Given the description of an element on the screen output the (x, y) to click on. 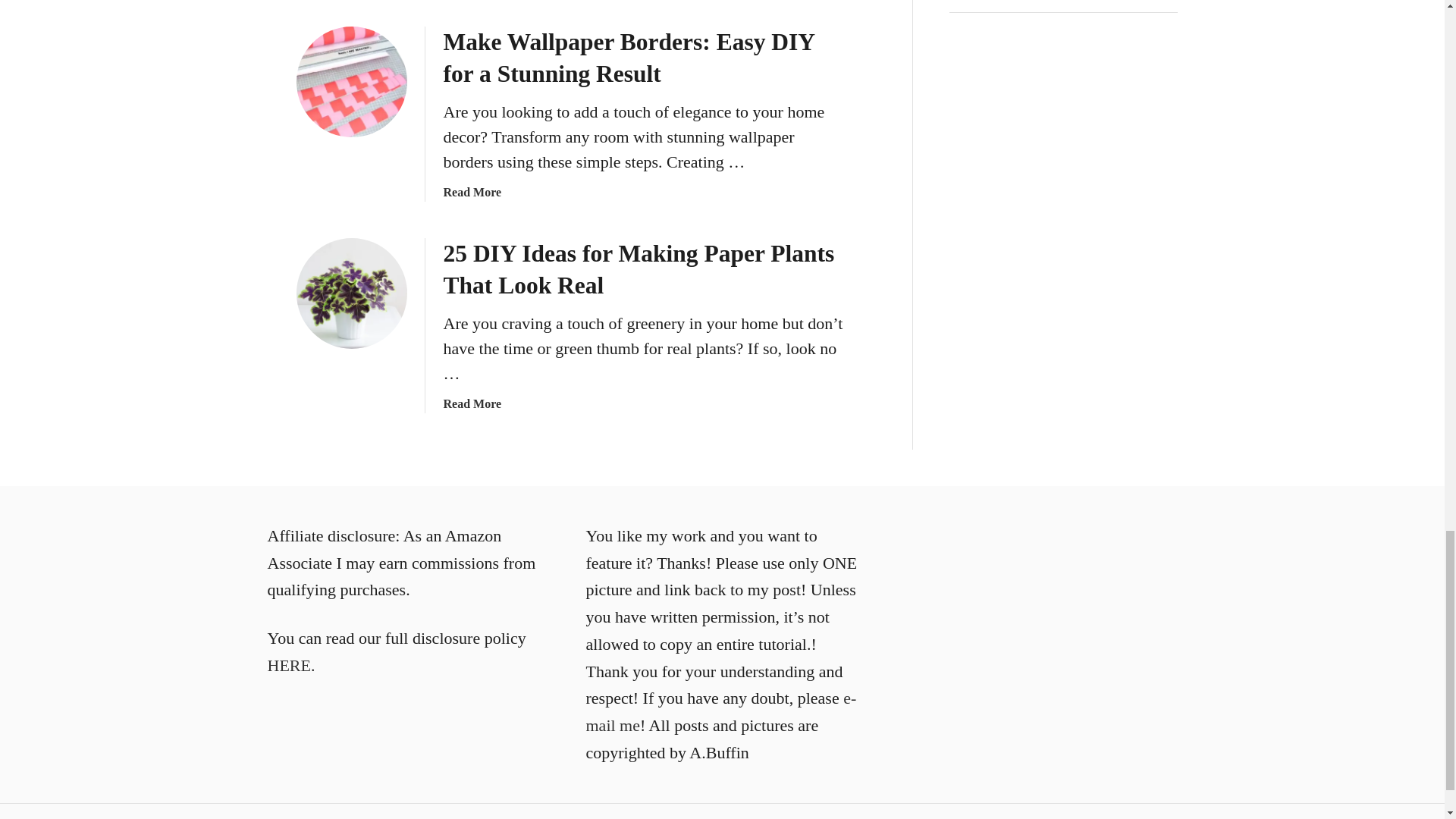
Make Wallpaper Borders: Easy DIY for a Stunning Result (350, 81)
25 DIY Ideas for Making Paper Plants That Look Real (350, 293)
